Given the description of an element on the screen output the (x, y) to click on. 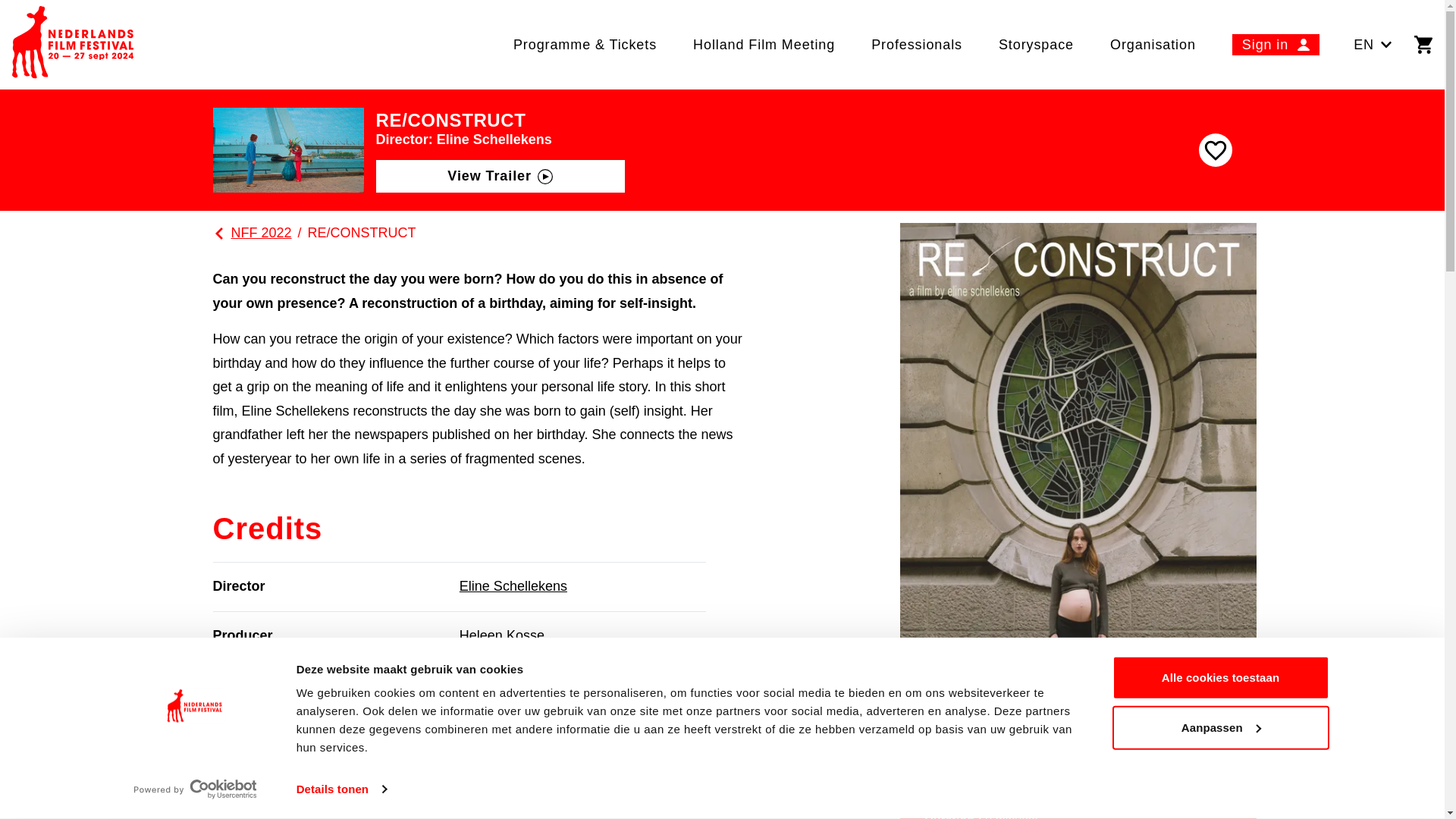
View Trailer (499, 175)
Holland Film Meeting (764, 44)
Visit the homepage (72, 44)
Details tonen (342, 789)
Professionals (916, 44)
Storyspace (1035, 44)
